Given the description of an element on the screen output the (x, y) to click on. 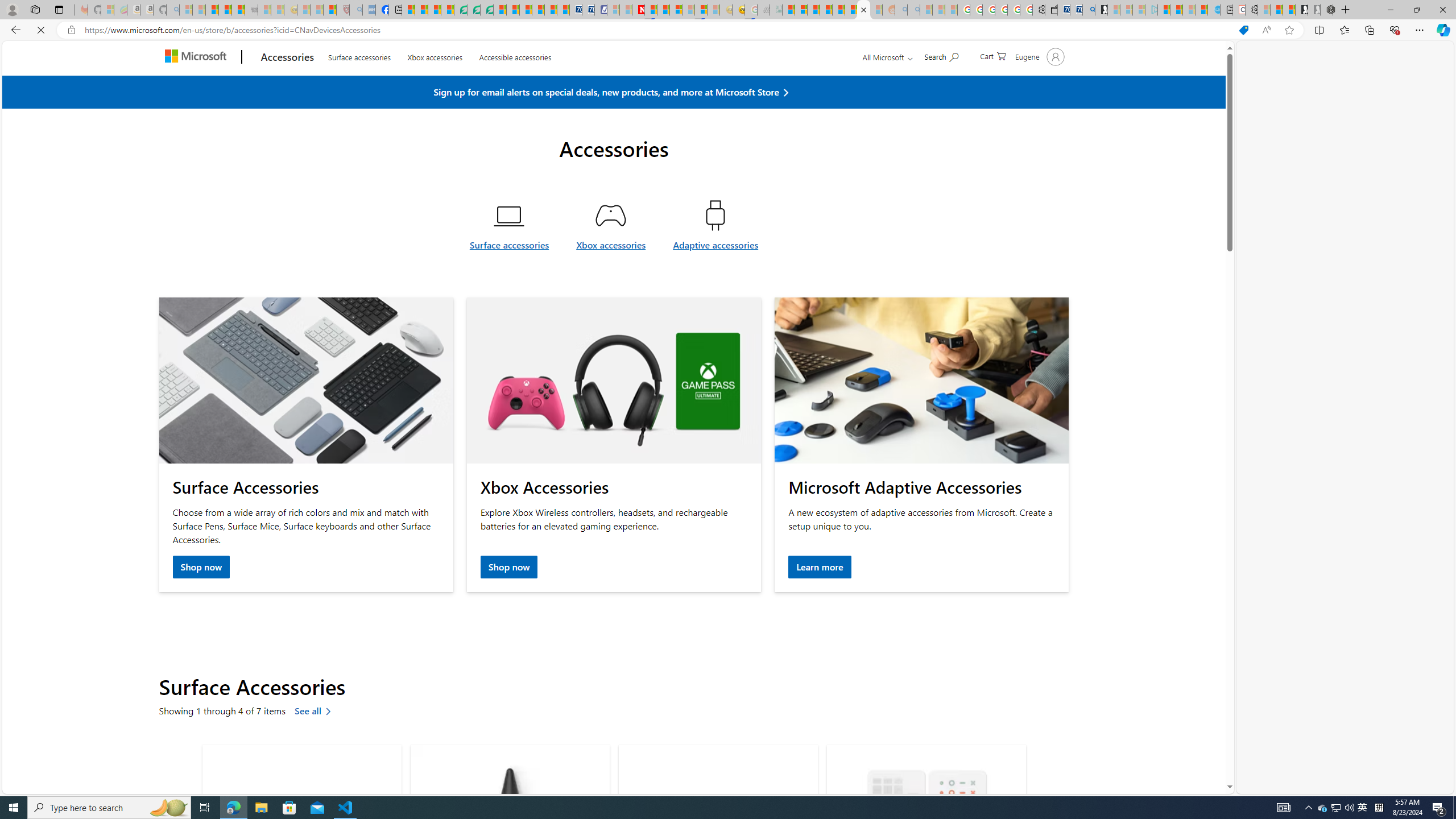
A variety of Surface accessories. (305, 381)
New Report Confirms 2023 Was Record Hot | Watch (237, 9)
Bing Real Estate - Home sales and rental listings (1088, 9)
See all Surface Accessories (315, 711)
Kinda Frugal - MSN (850, 9)
The Weather Channel - MSN (212, 9)
